Given the description of an element on the screen output the (x, y) to click on. 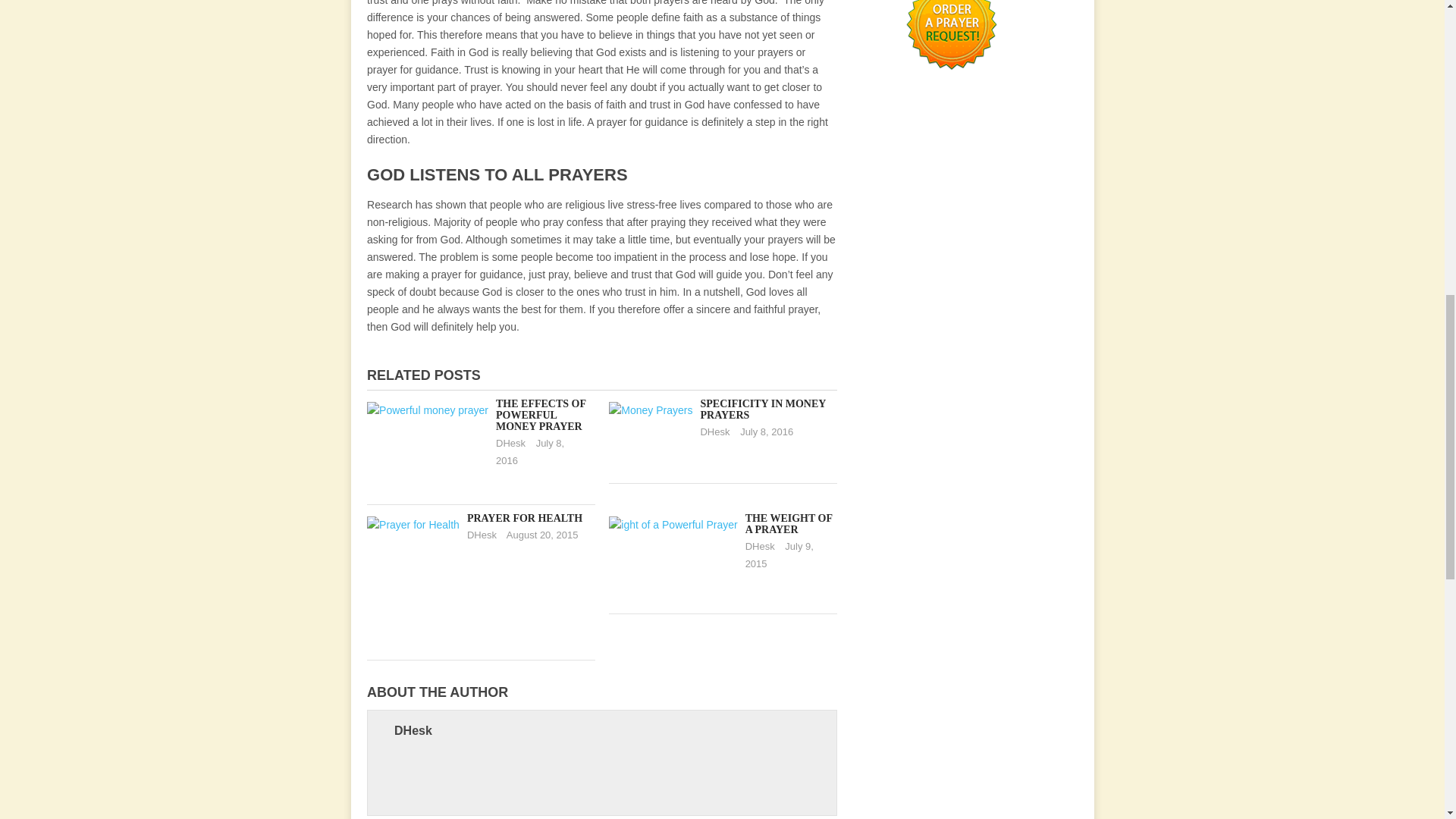
Specificity in Money Prayers (762, 409)
DHesk (510, 442)
THE WEIGHT OF A PRAYER (788, 523)
The Effects of Powerful Money Prayer (541, 415)
PRAYER FOR HEALTH (524, 518)
DHesk (481, 534)
Posts by DHesk (510, 442)
Posts by DHesk (481, 534)
DHesk (714, 431)
Prayer for Health (524, 518)
THE EFFECTS OF POWERFUL MONEY PRAYER (541, 415)
DHesk (413, 730)
Posts by DHesk (714, 431)
SPECIFICITY IN MONEY PRAYERS (762, 409)
DHesk (759, 546)
